Given the description of an element on the screen output the (x, y) to click on. 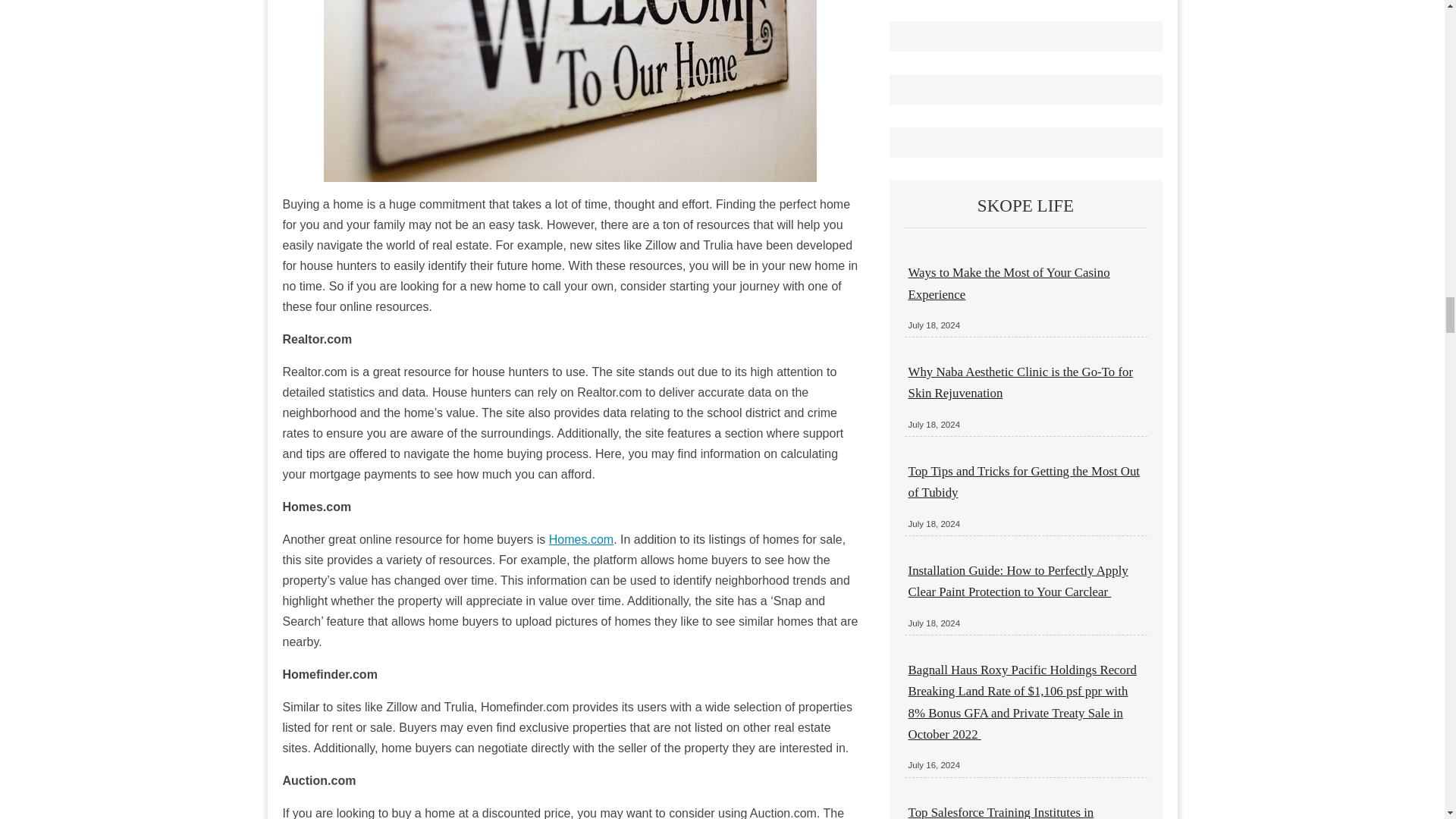
Top Tips and Tricks for Getting the Most Out of Tubidy (1024, 481)
Why Naba Aesthetic Clinic is the Go-To for Skin Rejuvenation (1021, 382)
Ways to Make the Most of Your Casino Experience (1008, 283)
Homes.com (580, 539)
